Given the description of an element on the screen output the (x, y) to click on. 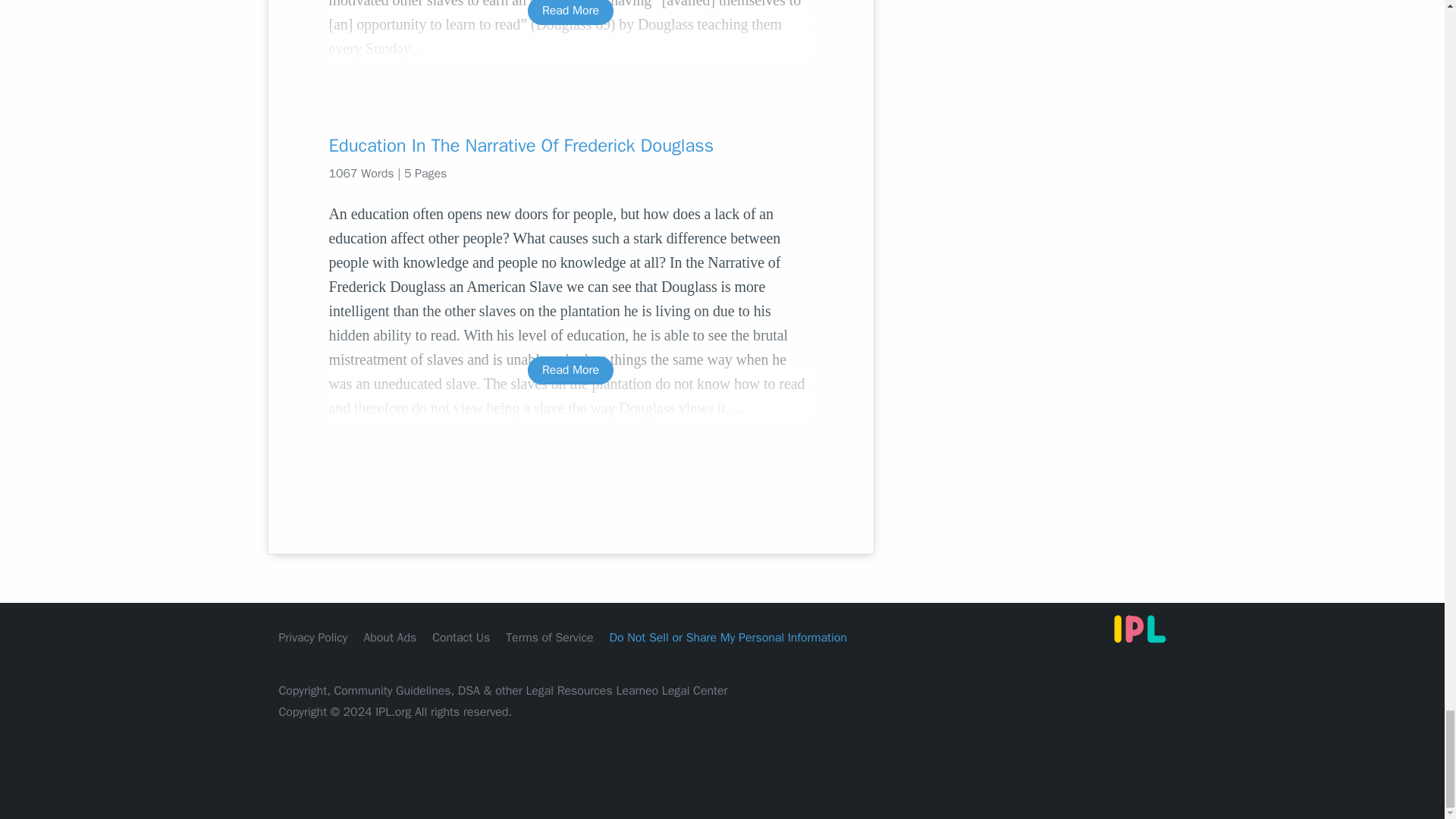
Privacy Policy (313, 637)
Terms of Service (548, 637)
Contact Us (460, 637)
About Ads (389, 637)
